Given the description of an element on the screen output the (x, y) to click on. 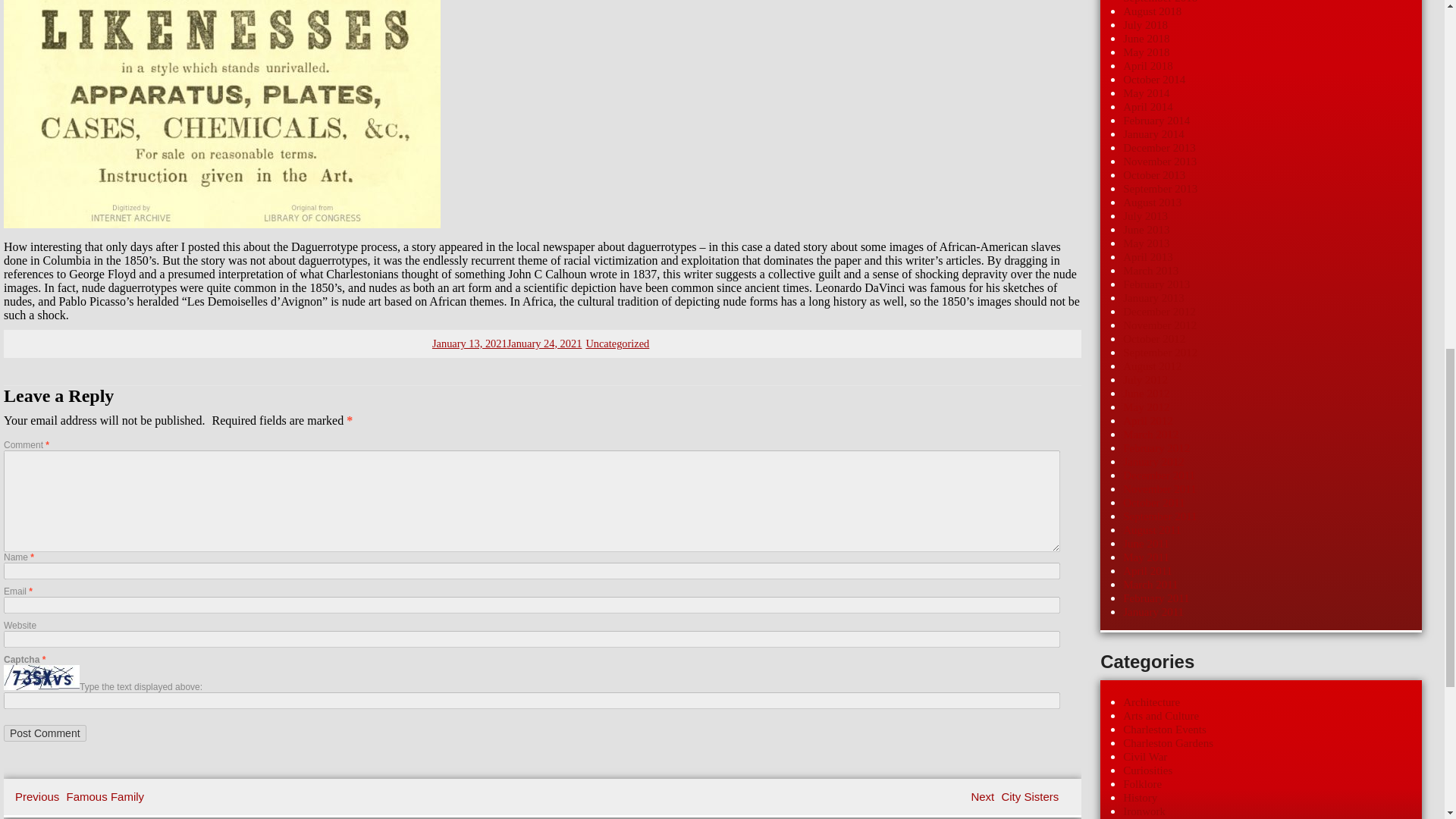
Uncategorized (81, 796)
Post Comment (1016, 796)
January 13, 2021January 24, 2021 (617, 343)
Post Comment (44, 733)
